Given the description of an element on the screen output the (x, y) to click on. 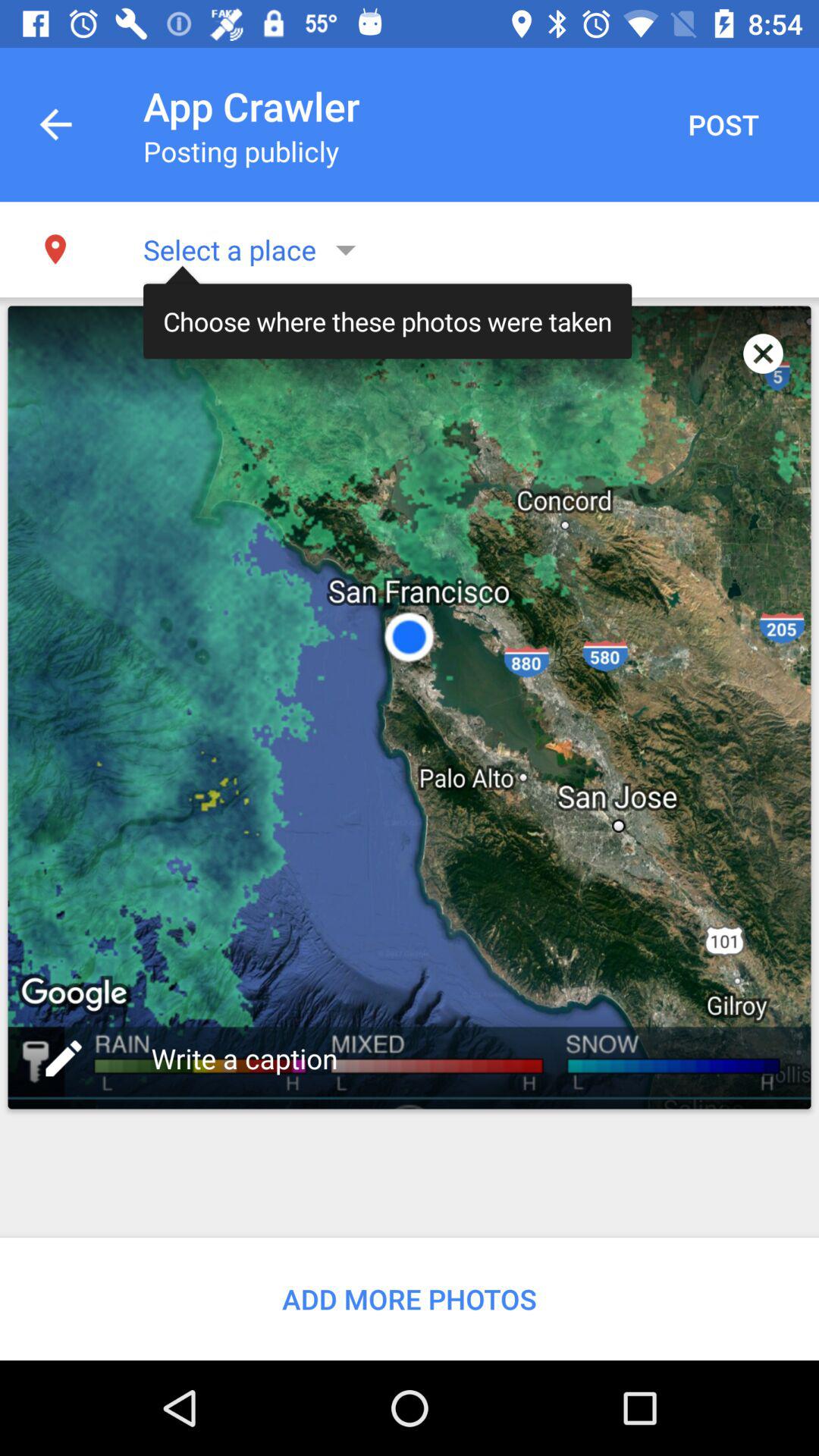
select item next to app crawler (723, 124)
